Given the description of an element on the screen output the (x, y) to click on. 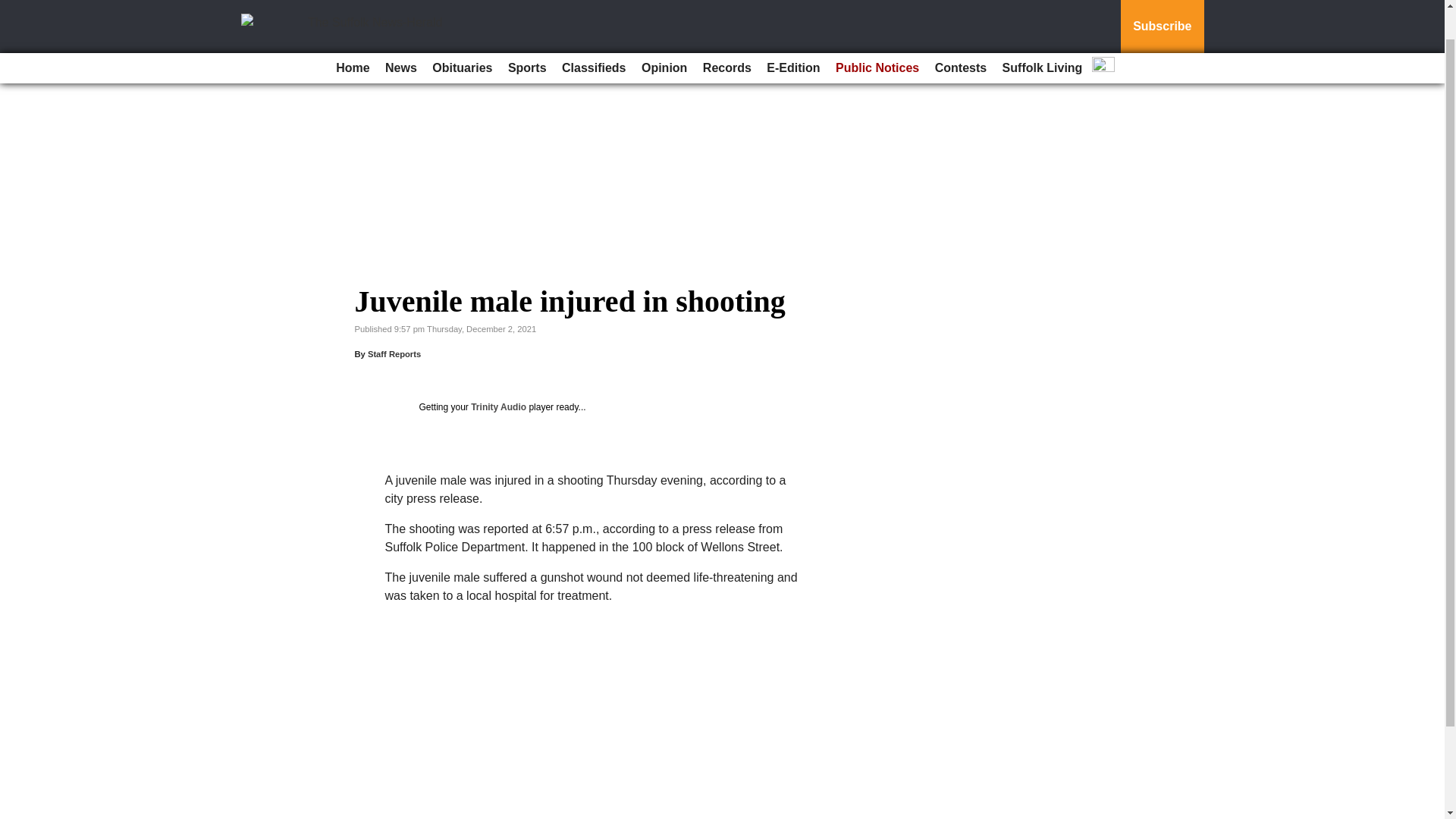
Obituaries (461, 33)
Public Notices (876, 33)
Sports (527, 33)
Suffolk Living (1042, 33)
Home (352, 33)
Trinity Audio (497, 407)
Subscribe (1162, 9)
Opinion (663, 33)
E-Edition (792, 33)
Classifieds (593, 33)
